Given the description of an element on the screen output the (x, y) to click on. 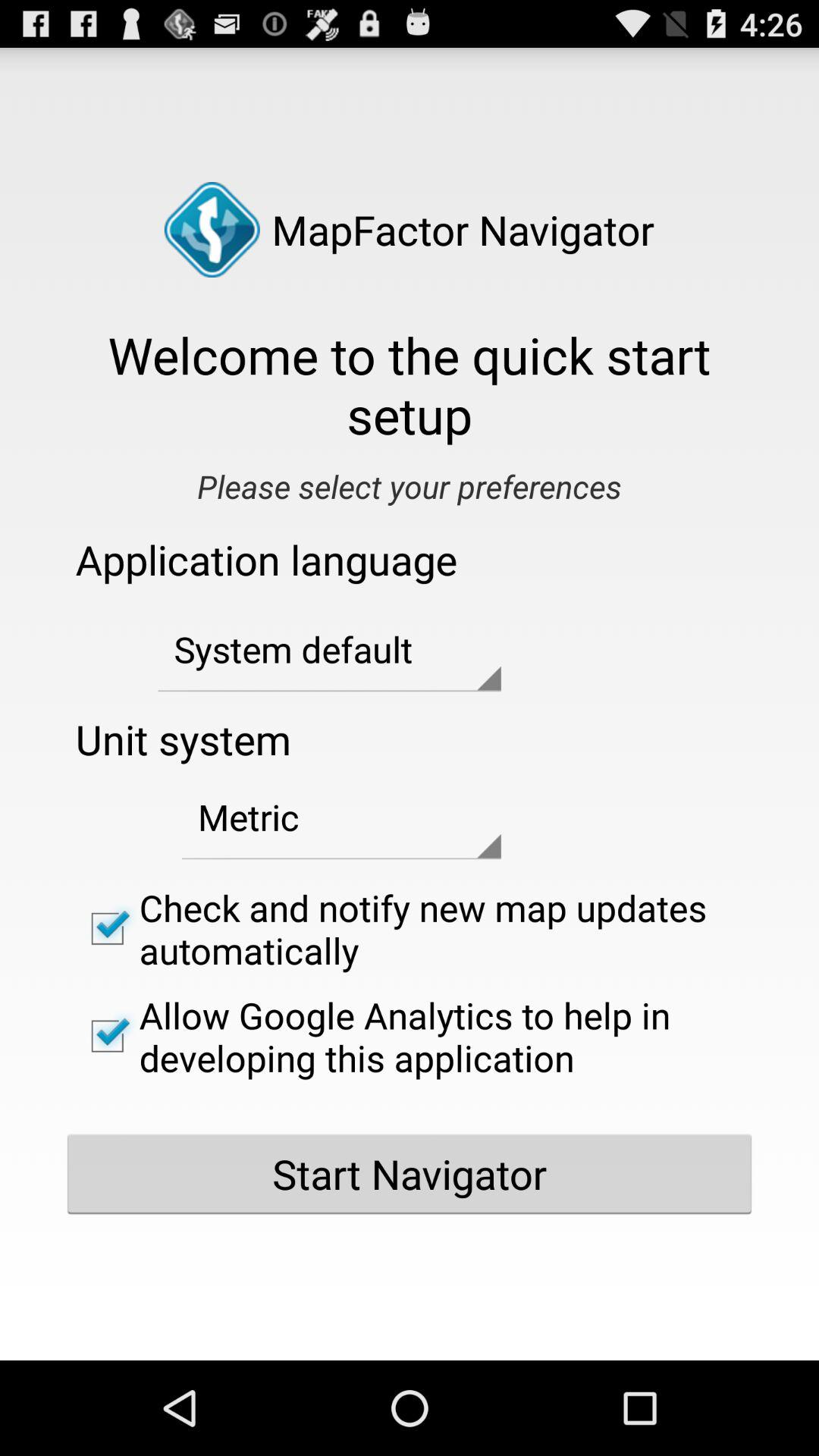
select the start navigator button (409, 1173)
